Given the description of an element on the screen output the (x, y) to click on. 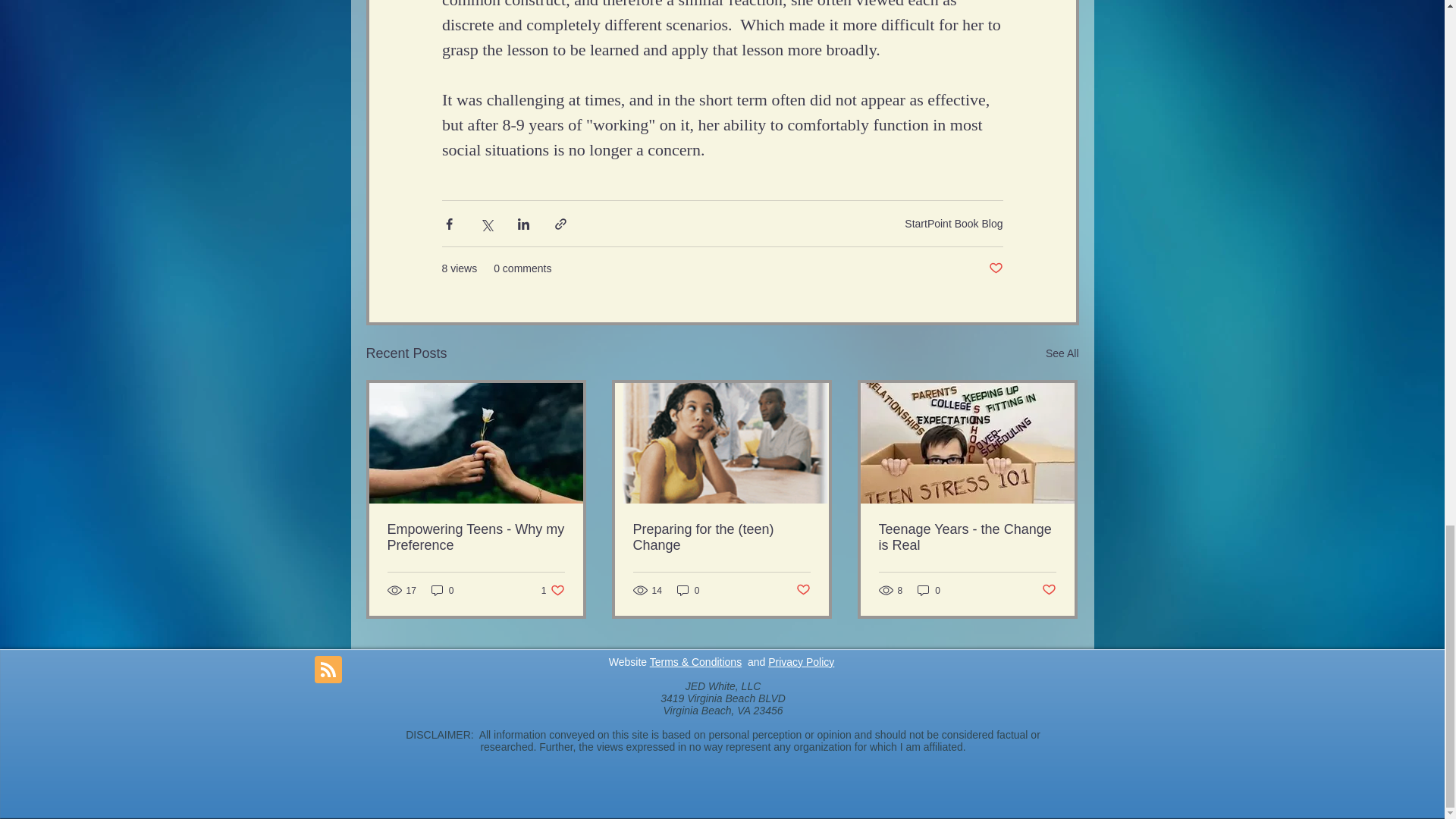
0 (442, 590)
StartPoint Book Blog (552, 590)
See All (953, 223)
Post not marked as liked (1061, 353)
Post not marked as liked (995, 268)
0 (1049, 590)
Privacy Policy (928, 590)
Teenage Years - the Change is Real (801, 662)
0 (966, 537)
